Given the description of an element on the screen output the (x, y) to click on. 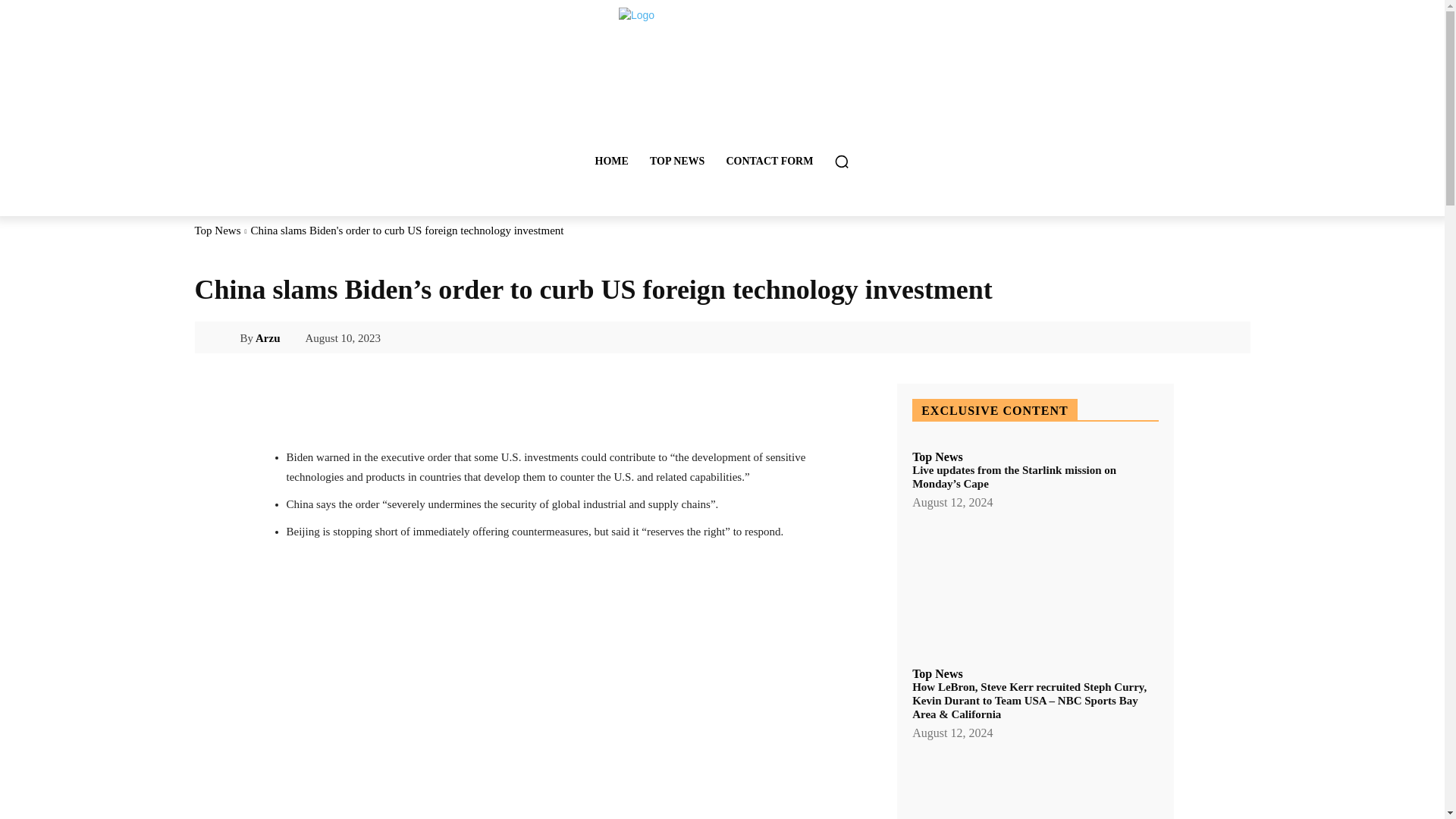
HOME (612, 161)
Top News (937, 674)
View all posts in Top News (216, 230)
Arzu (226, 337)
TOP NEWS (677, 161)
Top News (937, 457)
Arzu (268, 337)
CONTACT FORM (769, 161)
Top News (216, 230)
